Given the description of an element on the screen output the (x, y) to click on. 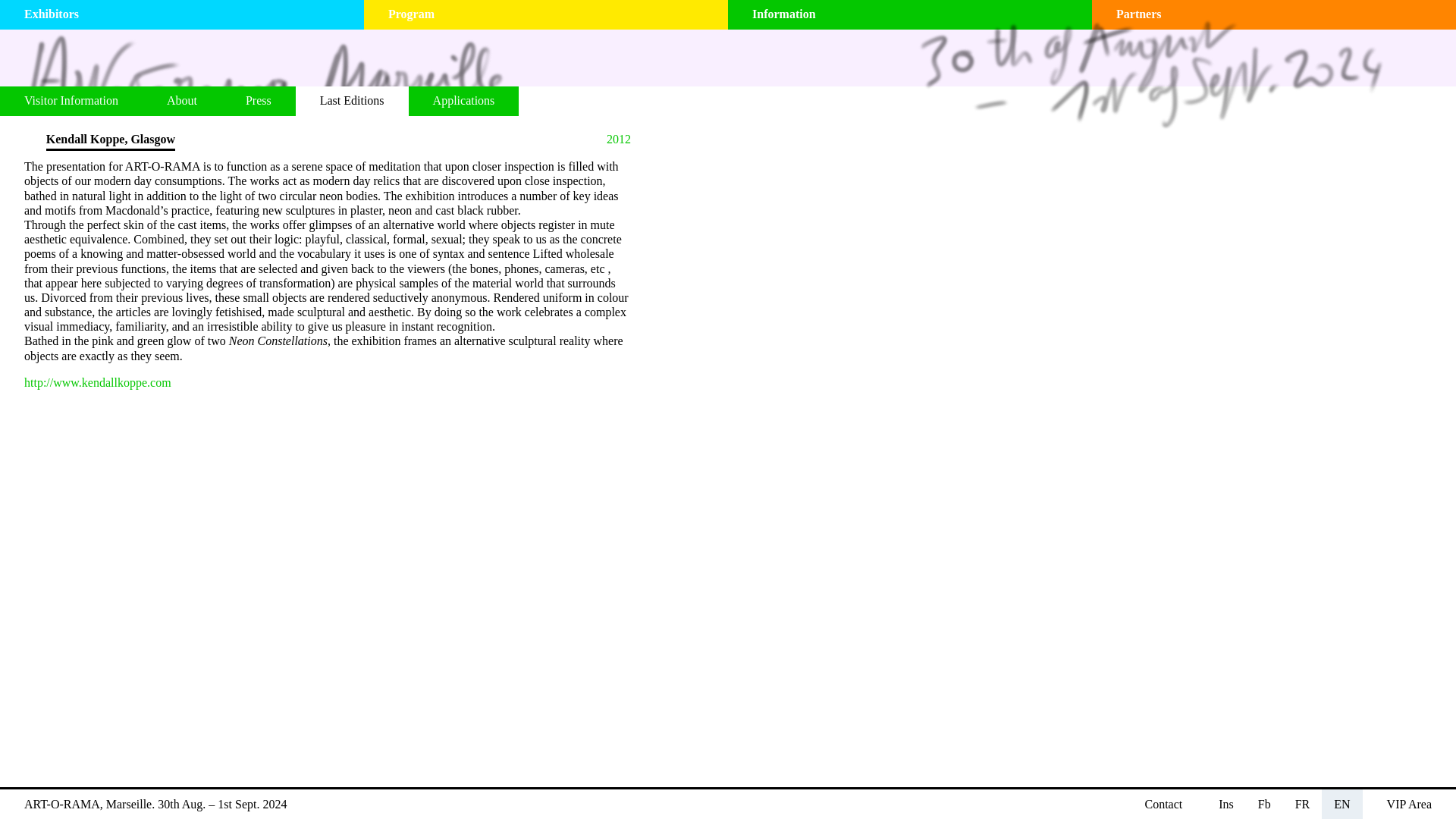
Exhibitors (194, 14)
Applications (464, 101)
Press (258, 101)
Information (922, 14)
Last Editions (352, 101)
About (181, 101)
Program (558, 14)
Visitor Information (71, 101)
